Given the description of an element on the screen output the (x, y) to click on. 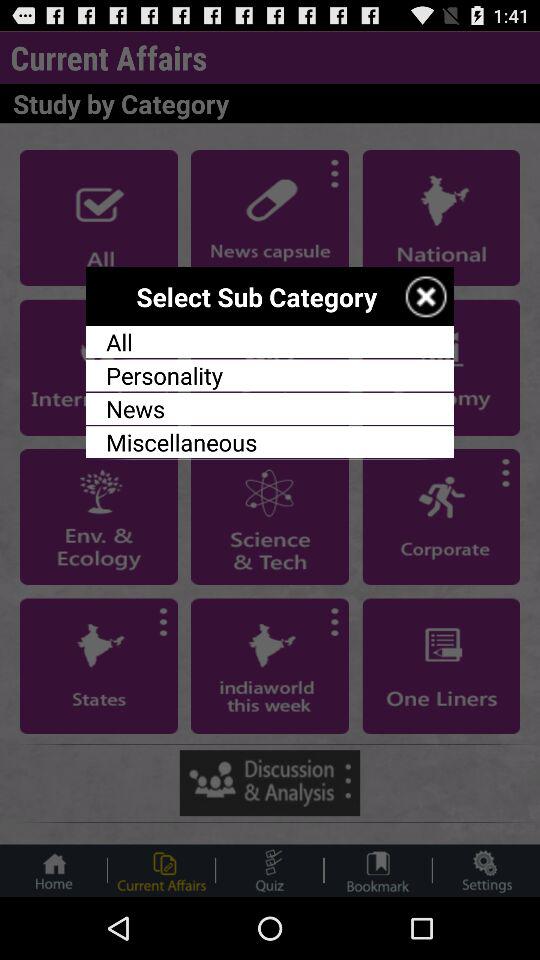
press item at the top right corner (425, 296)
